Given the description of an element on the screen output the (x, y) to click on. 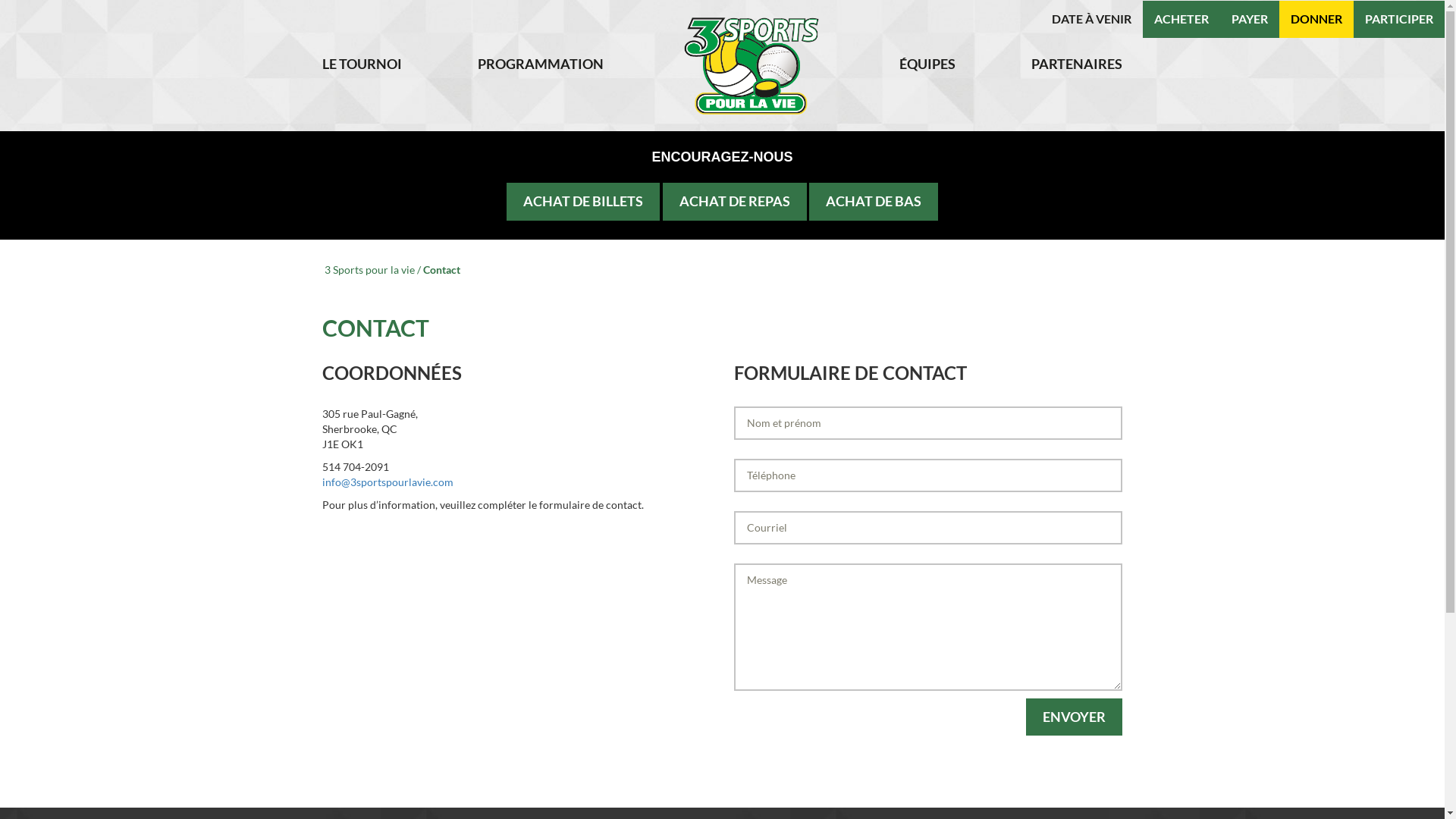
PAYER Element type: text (1249, 18)
ACHAT DE REPAS Element type: text (734, 201)
DONNER Element type: text (1316, 18)
ACHAT DE BILLETS Element type: text (582, 201)
PARTENAIRES Element type: text (1076, 63)
ACHETER Element type: text (1181, 18)
3 Sports pour la vie Element type: text (369, 269)
Envoyer Element type: text (1074, 717)
PROGRAMMATION Element type: text (540, 63)
info@3sportspourlavie.com Element type: text (387, 481)
LE TOURNOI Element type: text (361, 63)
ACHAT DE BAS Element type: text (873, 201)
PARTICIPER Element type: text (1399, 18)
